Given the description of an element on the screen output the (x, y) to click on. 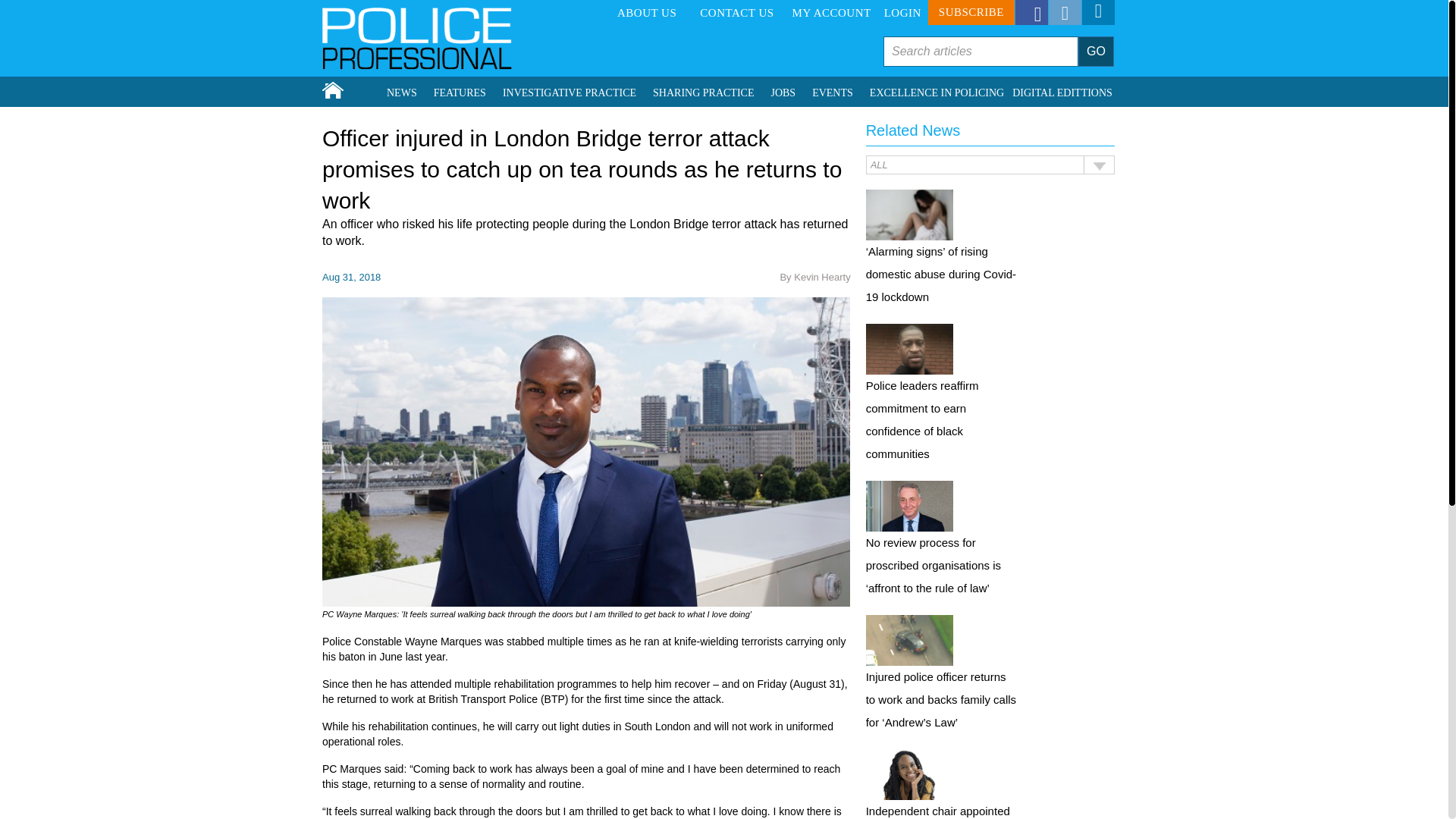
ABOUT US (646, 13)
Police Professional (416, 38)
NEWS (401, 92)
LOGIN (902, 13)
SUBSCRIBE (971, 12)
GO (1095, 51)
MY ACCOUNT (831, 13)
CONTACT US (736, 13)
